Given the description of an element on the screen output the (x, y) to click on. 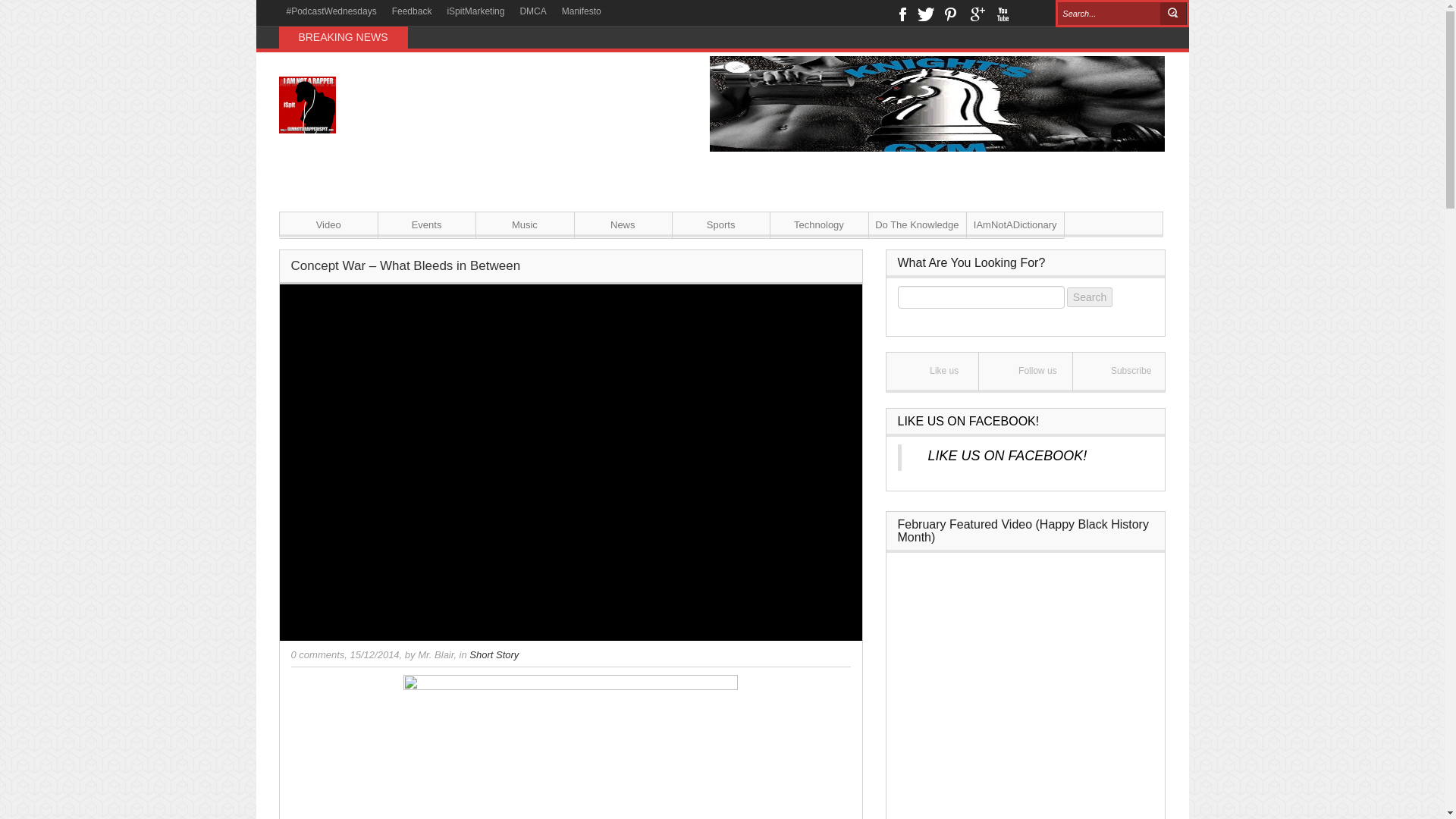
Search (1089, 296)
Search (1173, 13)
Pinterest (950, 12)
Search (1173, 13)
Youtube (1001, 12)
Feedback (411, 11)
DMCA (532, 11)
Manifesto (581, 11)
iSpitMarketing (475, 11)
Twitter (925, 12)
Posts by Mr. Blair (434, 654)
